Given the description of an element on the screen output the (x, y) to click on. 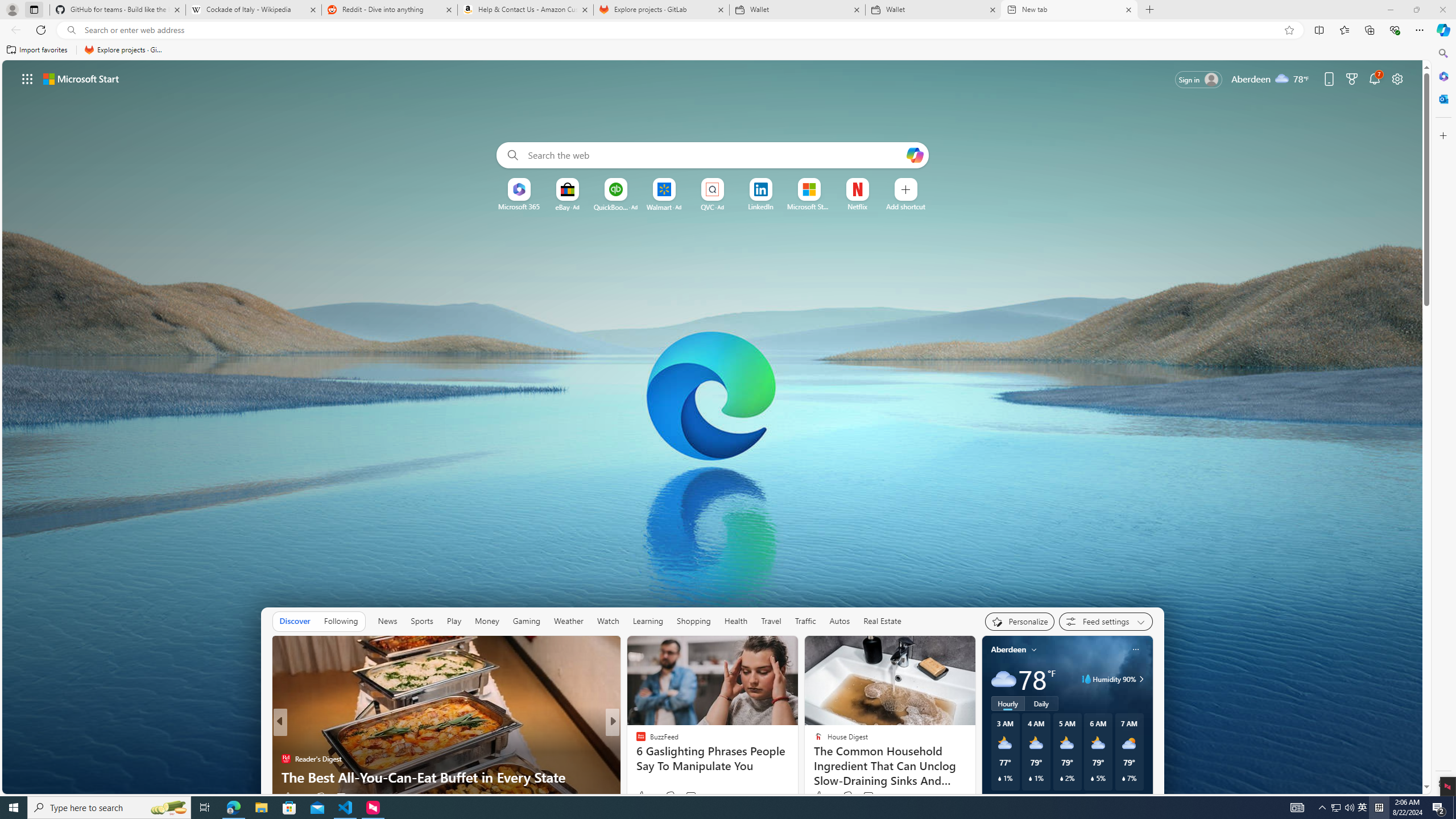
7 Ways to Stimulate Your Brain as You Age (796, 777)
Q2790: 100% (1349, 807)
Southern Living (635, 740)
New tab (1068, 9)
Feed settings (1105, 621)
3 Ways To Clean Dirty Baking Sheets So They Look Brand New (796, 767)
Search icon (70, 29)
Netflix (857, 206)
Tray Input Indicator - Chinese (Simplified, China) (1378, 807)
Daily (1041, 703)
The Best All-You-Can-Eat Buffet in Every State (796, 777)
Real Estate (881, 621)
Microsoft 365 (1442, 76)
Sports (421, 621)
